Given the description of an element on the screen output the (x, y) to click on. 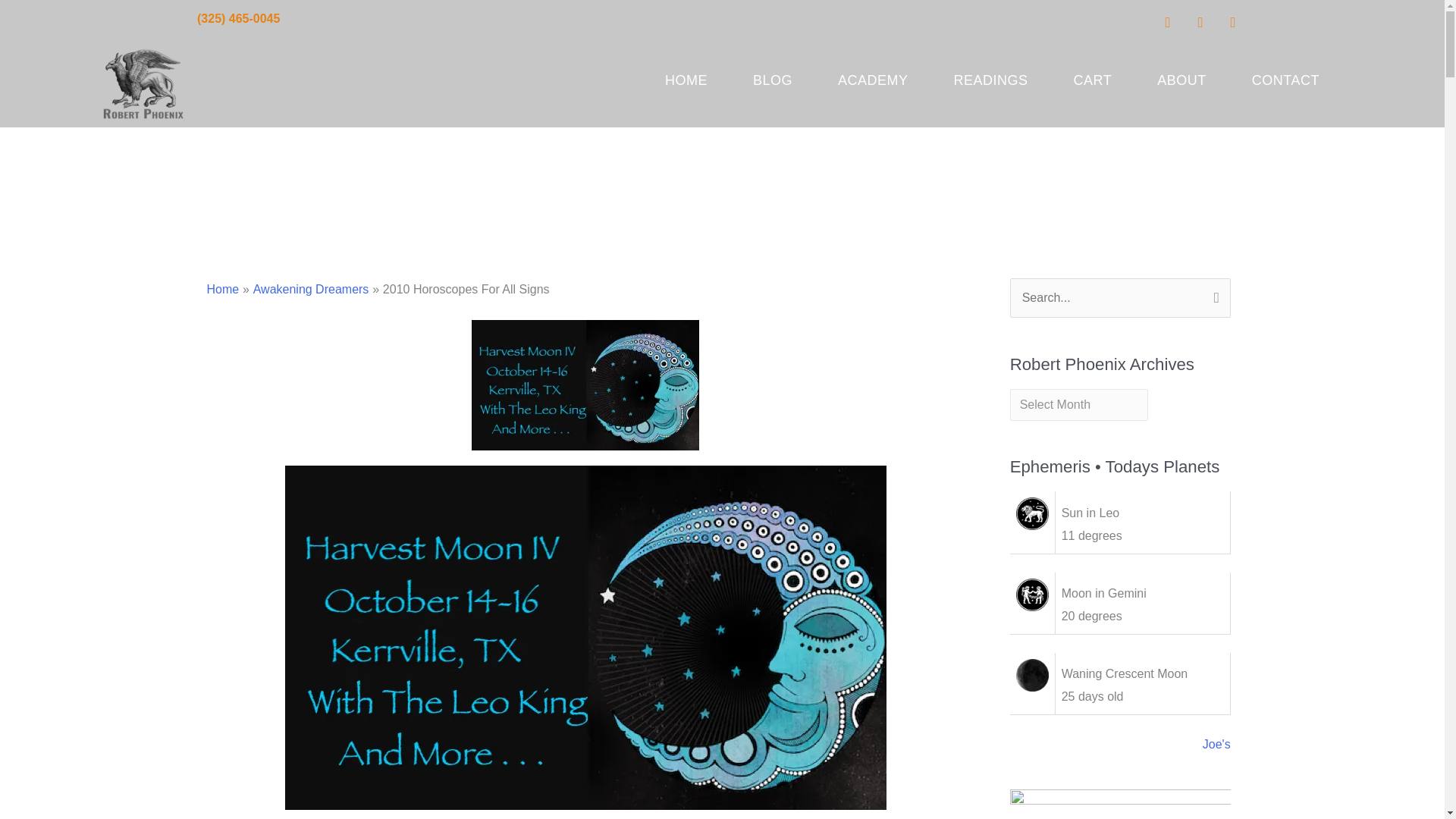
READINGS (991, 80)
Gemini (1032, 594)
BLOG (772, 80)
Leo (1032, 513)
ABOUT (1181, 80)
Youtube (1232, 21)
ACADEMY (873, 80)
CONTACT (1285, 80)
Facebook (1167, 21)
Home (222, 288)
HOME (686, 80)
Twitter (1200, 21)
CART (1093, 80)
Awakening Dreamers (311, 288)
Waning Crescent Moon (1032, 675)
